Given the description of an element on the screen output the (x, y) to click on. 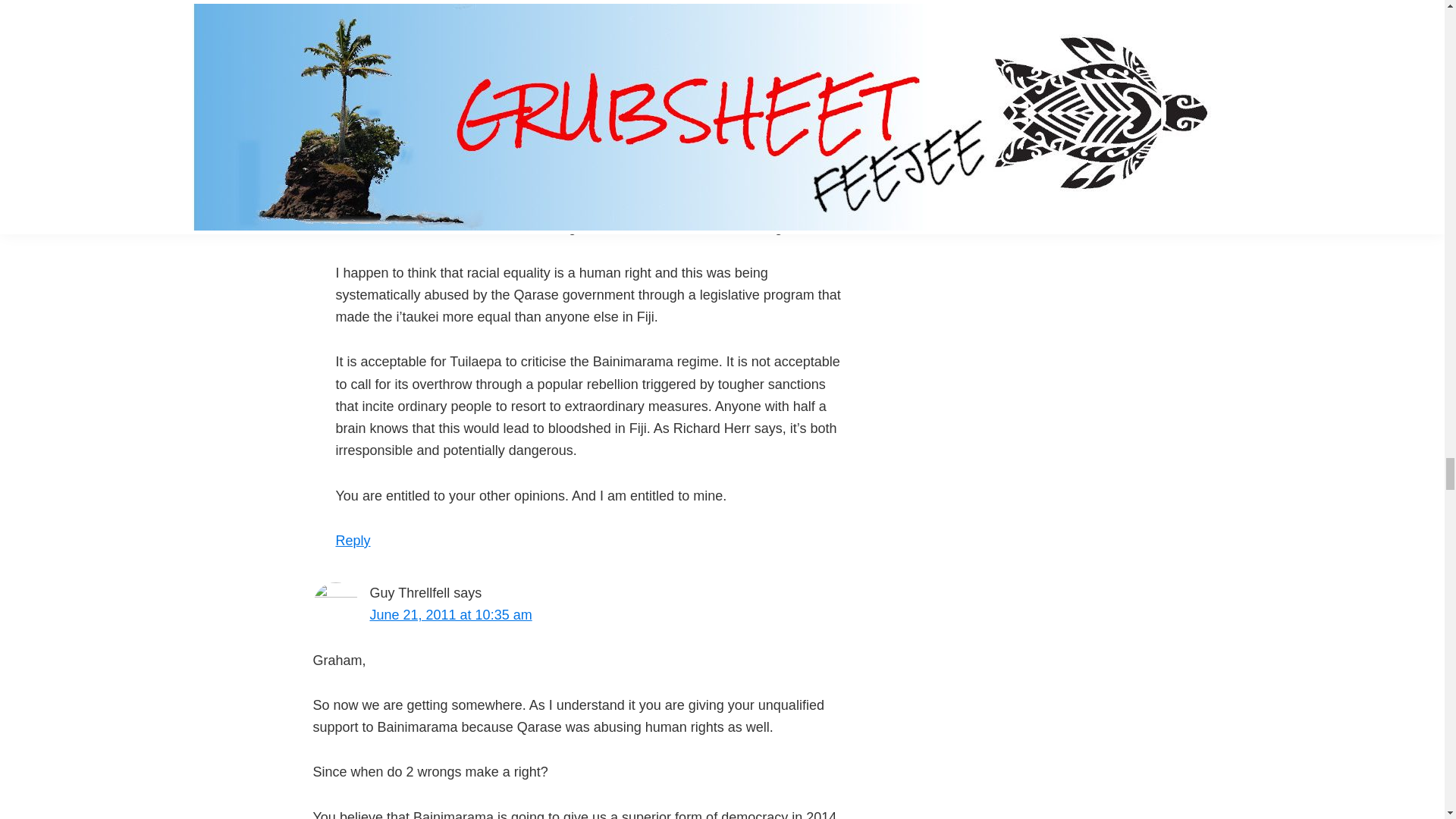
June 21, 2011 at 9:21 am (470, 138)
Reply (330, 63)
Reply (351, 540)
June 21, 2011 at 10:35 am (450, 614)
